Given the description of an element on the screen output the (x, y) to click on. 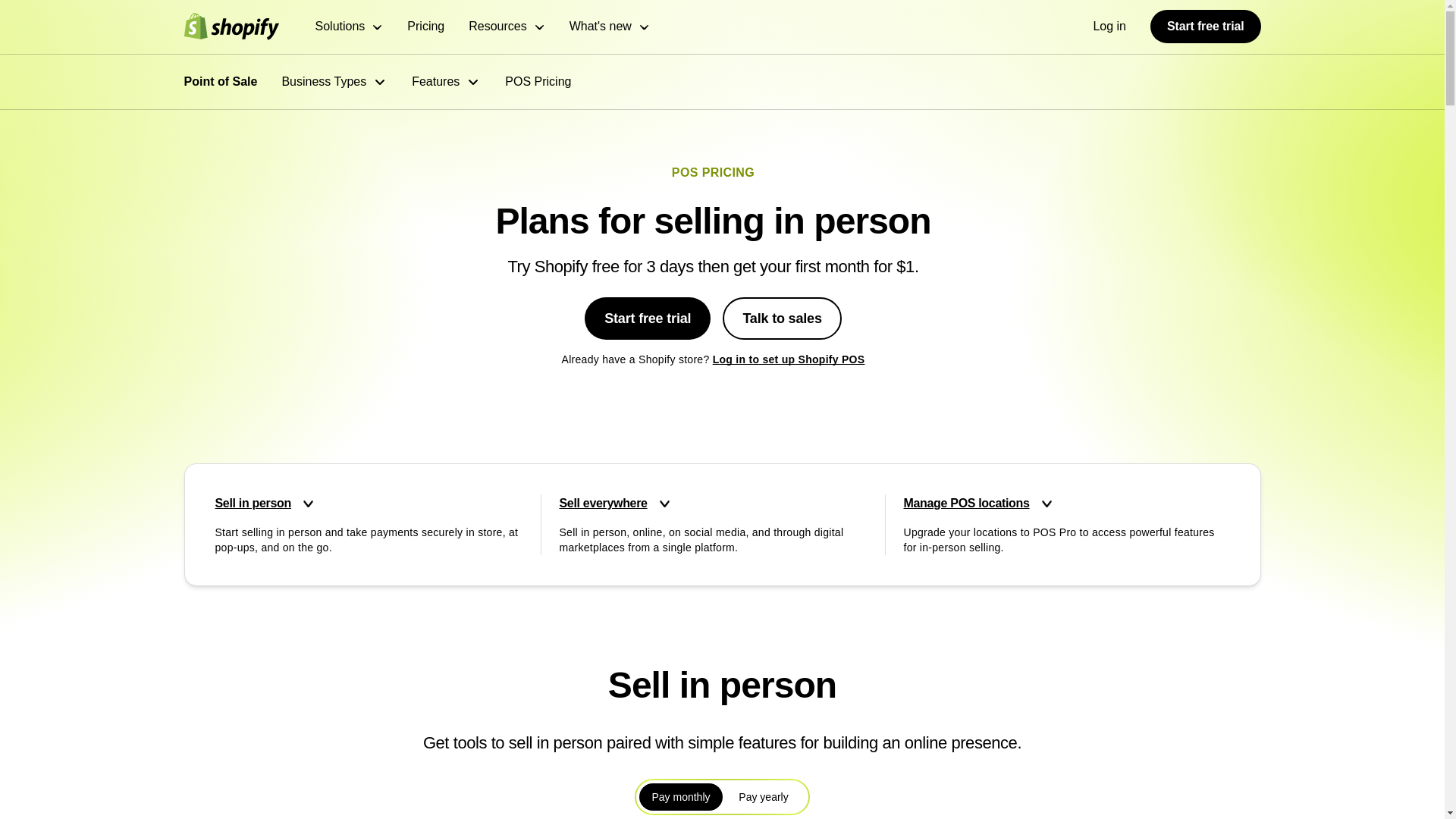
Solutions (349, 27)
Resources (506, 27)
